Given the description of an element on the screen output the (x, y) to click on. 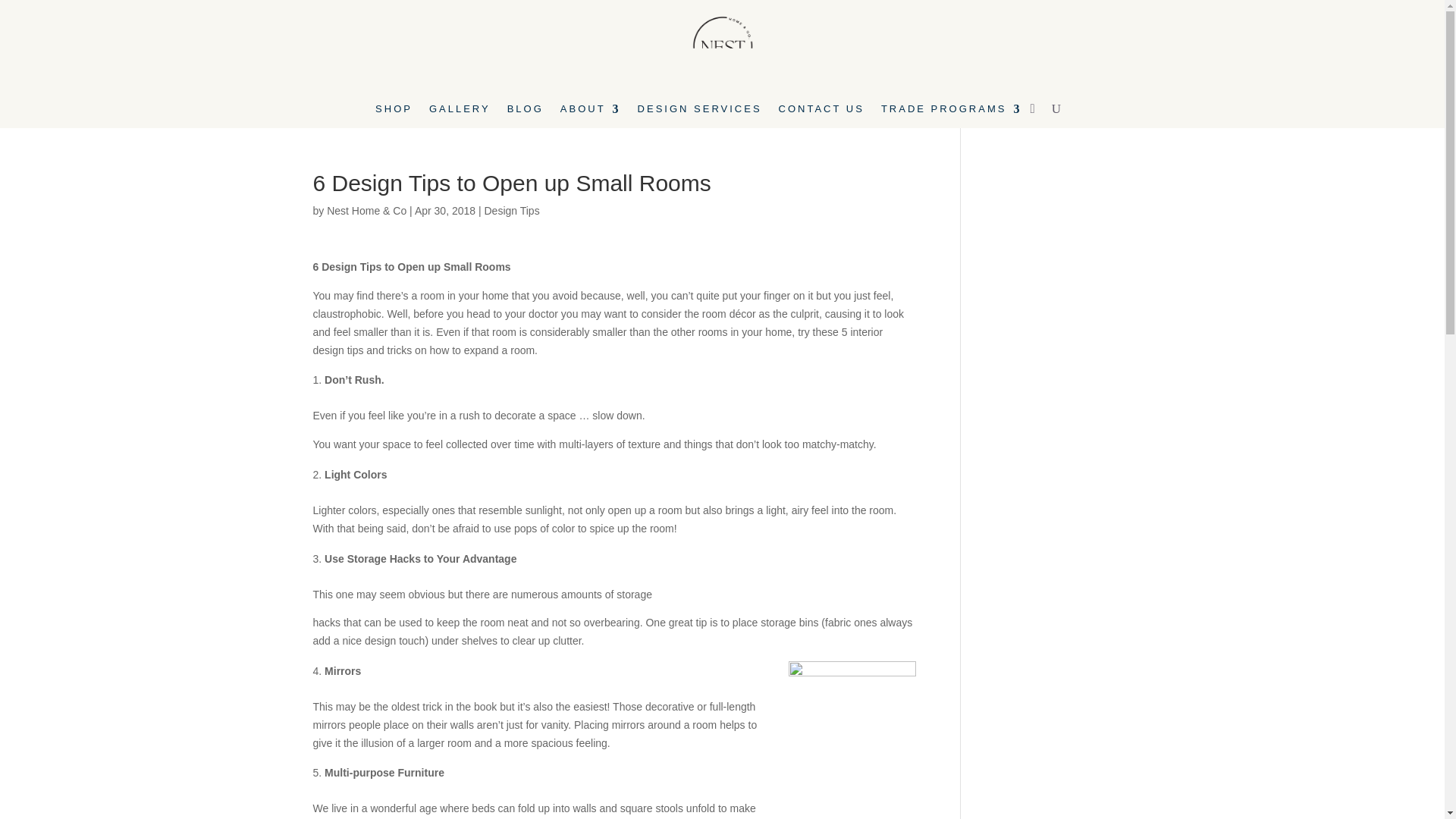
GALLERY (459, 112)
Design Tips (510, 210)
BLOG (524, 112)
ABOUT (590, 112)
DESIGN SERVICES (699, 112)
TRADE PROGRAMS (951, 112)
CONTACT US (821, 112)
SHOP (393, 112)
